Given the description of an element on the screen output the (x, y) to click on. 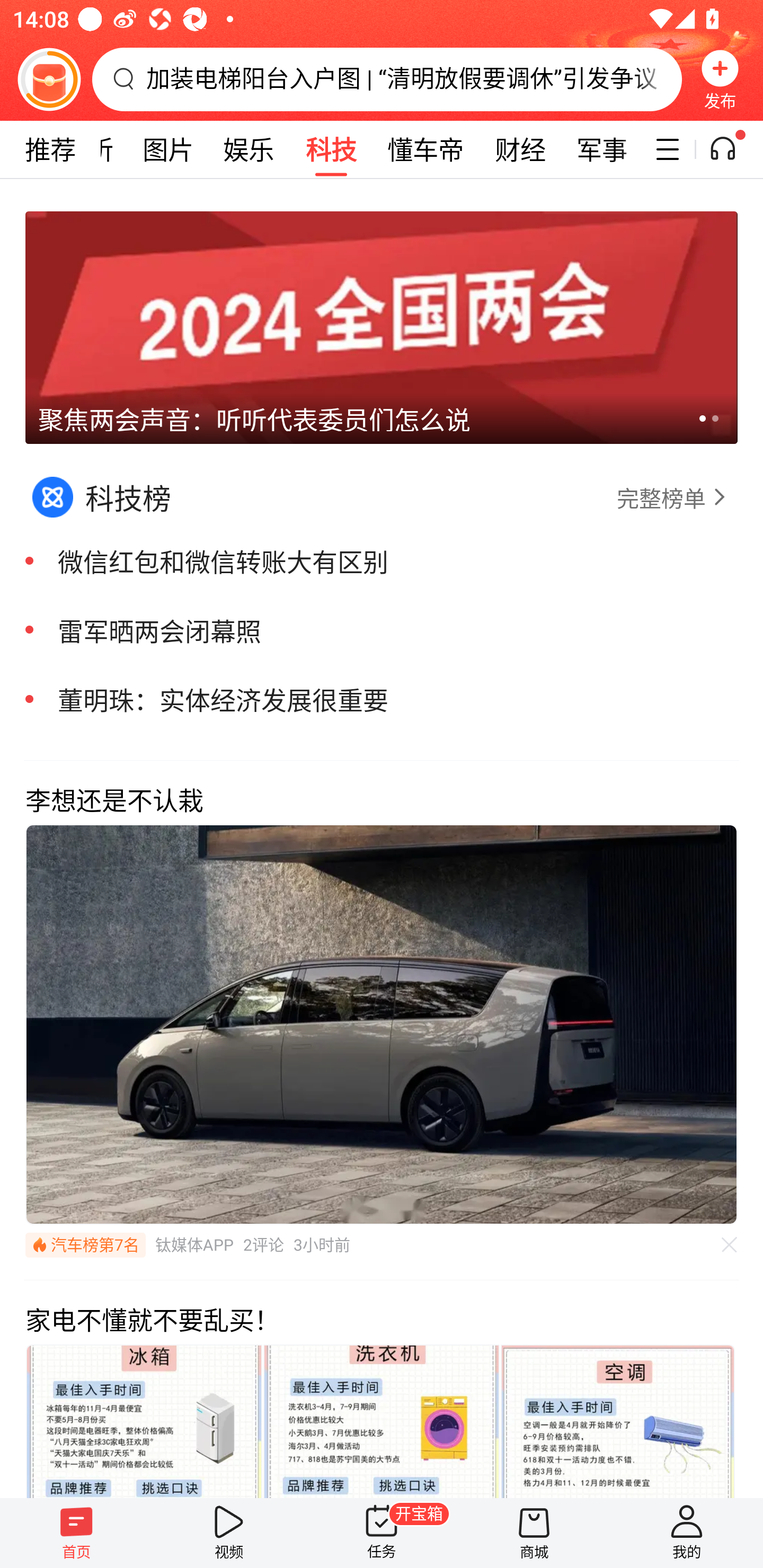
阅读赚金币 (48, 79)
发布 发布，按钮 (720, 78)
推荐 (49, 149)
图片 (167, 149)
娱乐 (248, 149)
科技 (330, 149)
懂车帝 (425, 149)
财经 (520, 149)
军事 (601, 149)
听一听开关 (732, 149)
不感兴趣 (729, 1244)
三张内容图片 内容图片 内容图片 内容图片 (381, 1420)
内容图片 (381, 1420)
内容图片 (617, 1420)
首页 (76, 1532)
视频 (228, 1532)
任务 开宝箱 (381, 1532)
商城 (533, 1532)
我的 (686, 1532)
